Given the description of an element on the screen output the (x, y) to click on. 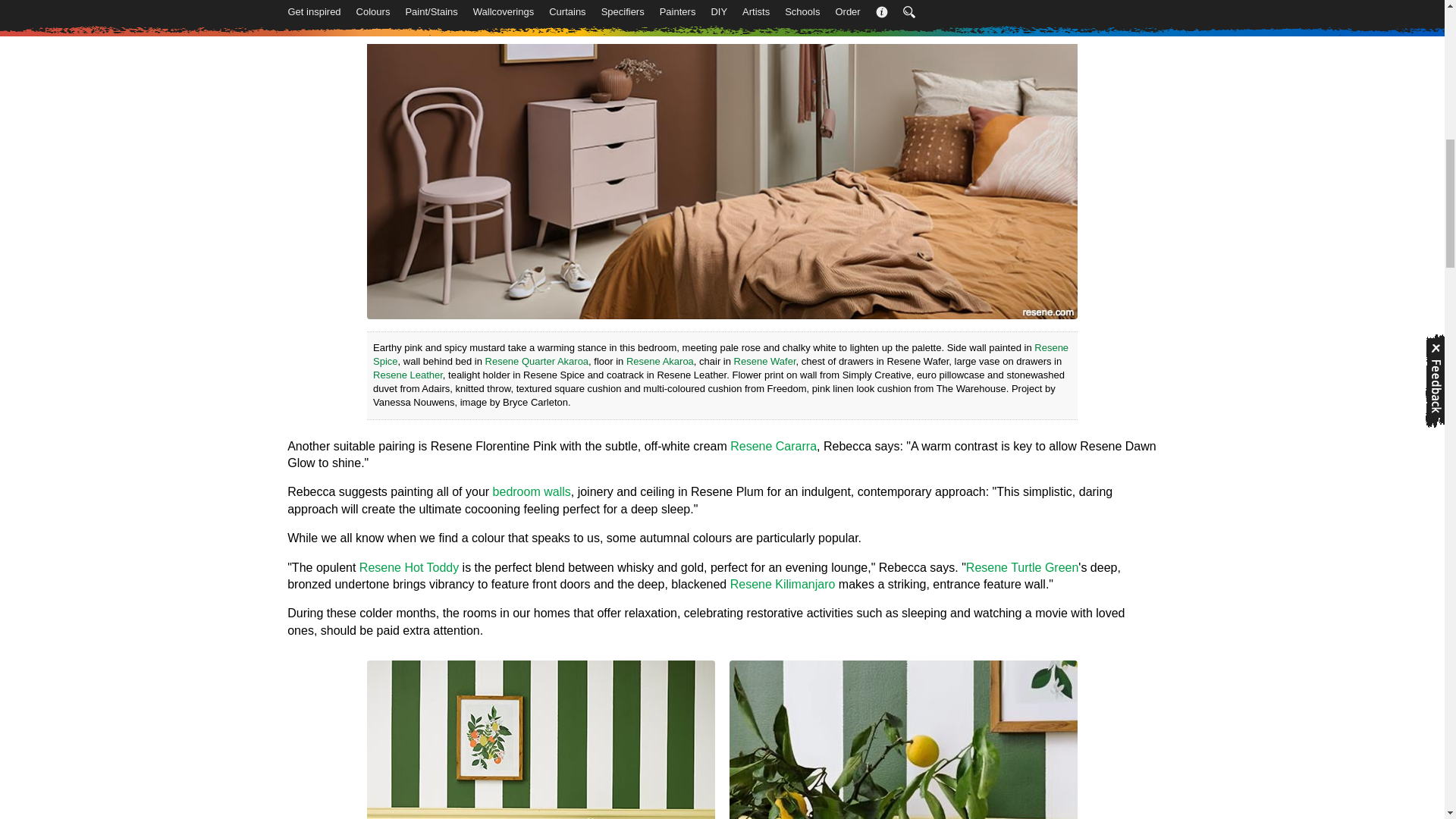
Best bedroom colours (531, 491)
